Given the description of an element on the screen output the (x, y) to click on. 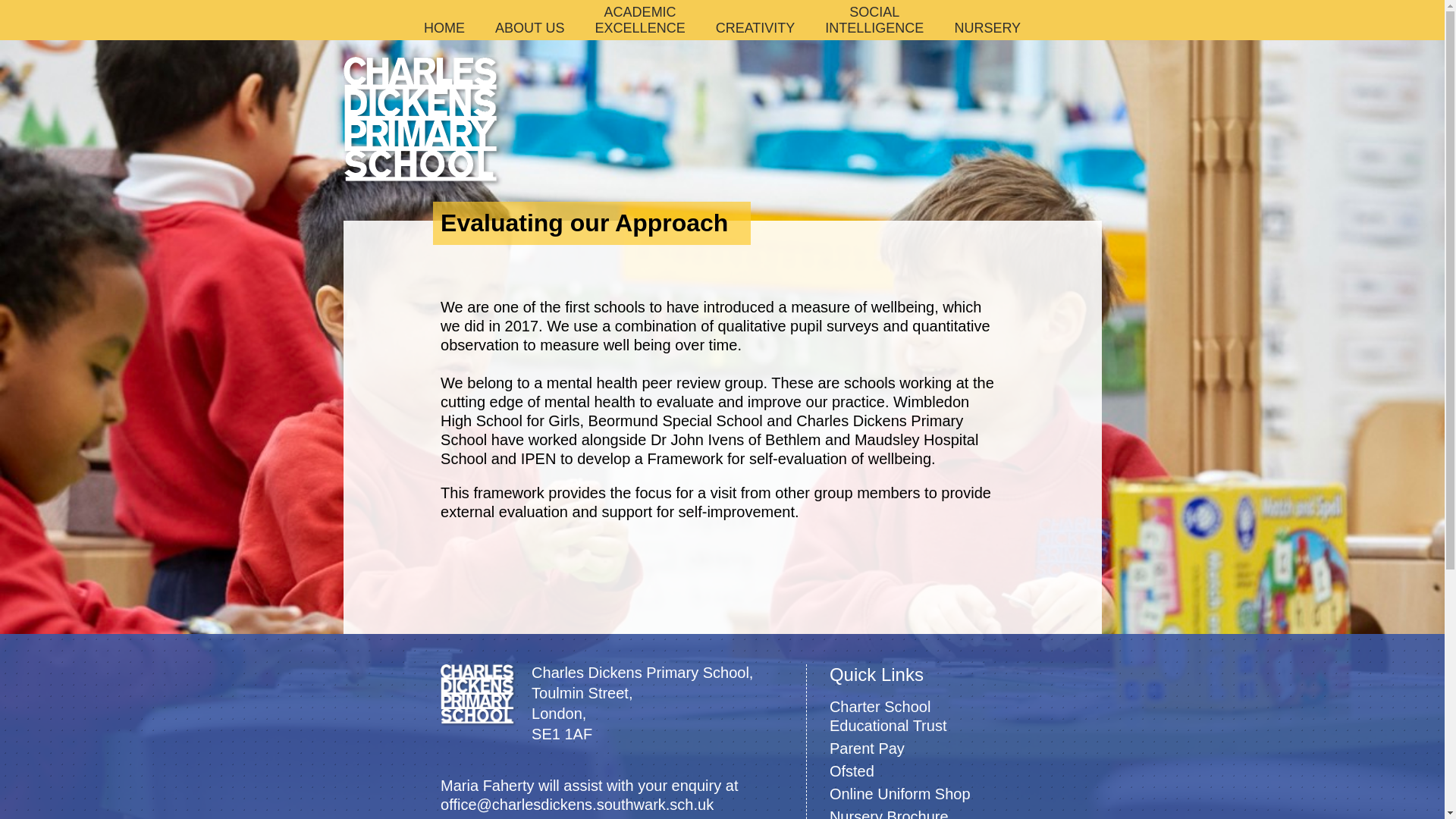
NURSERY (987, 27)
HOME (874, 20)
CREATIVITY (444, 27)
ABOUT US (755, 27)
